Given the description of an element on the screen output the (x, y) to click on. 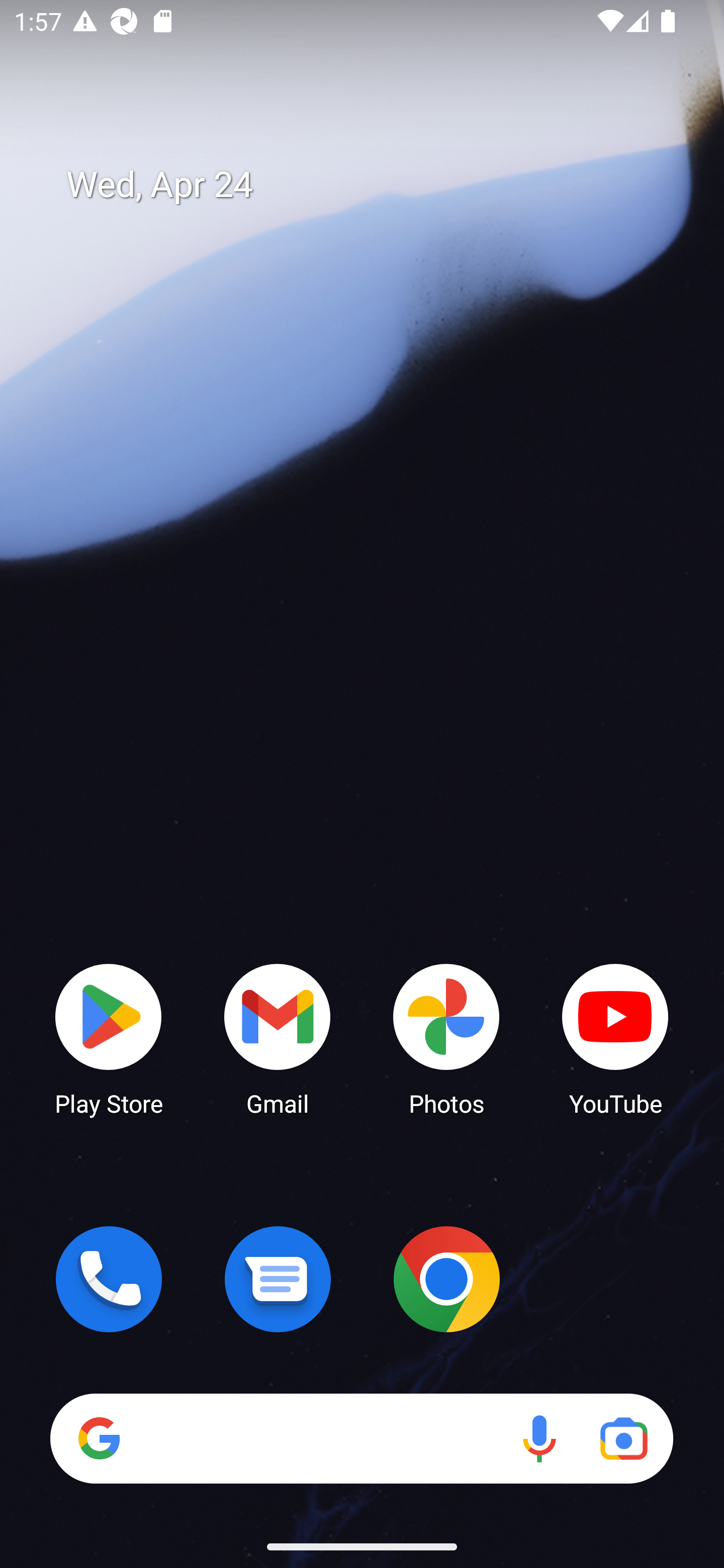
Wed, Apr 24 (375, 184)
Play Store (108, 1038)
Gmail (277, 1038)
Photos (445, 1038)
YouTube (615, 1038)
Phone (108, 1279)
Messages (277, 1279)
Chrome (446, 1279)
Search Voice search Google Lens (361, 1438)
Voice search (539, 1438)
Google Lens (623, 1438)
